Given the description of an element on the screen output the (x, y) to click on. 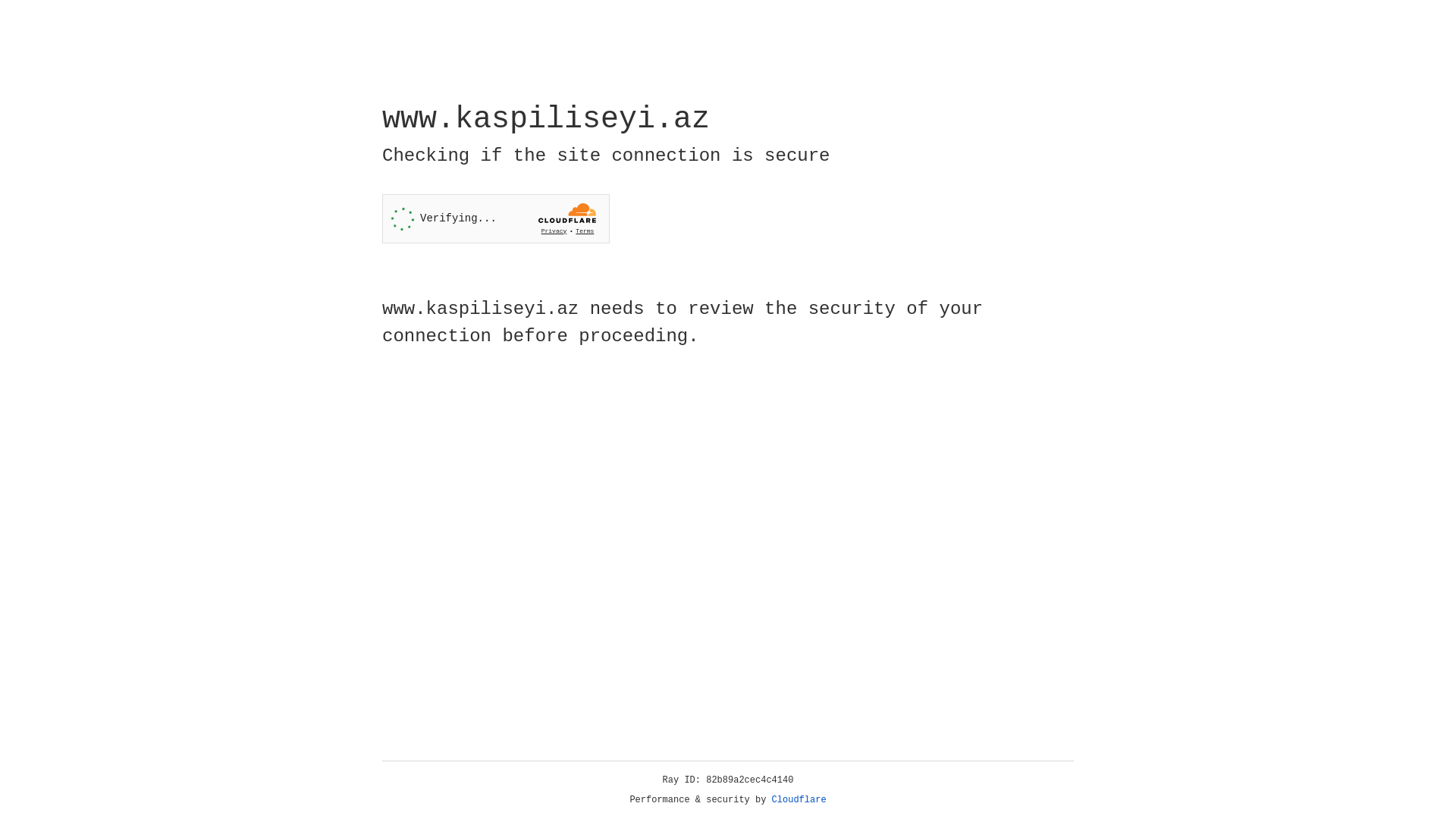
Widget containing a Cloudflare security challenge Element type: hover (495, 218)
Cloudflare Element type: text (798, 799)
